Given the description of an element on the screen output the (x, y) to click on. 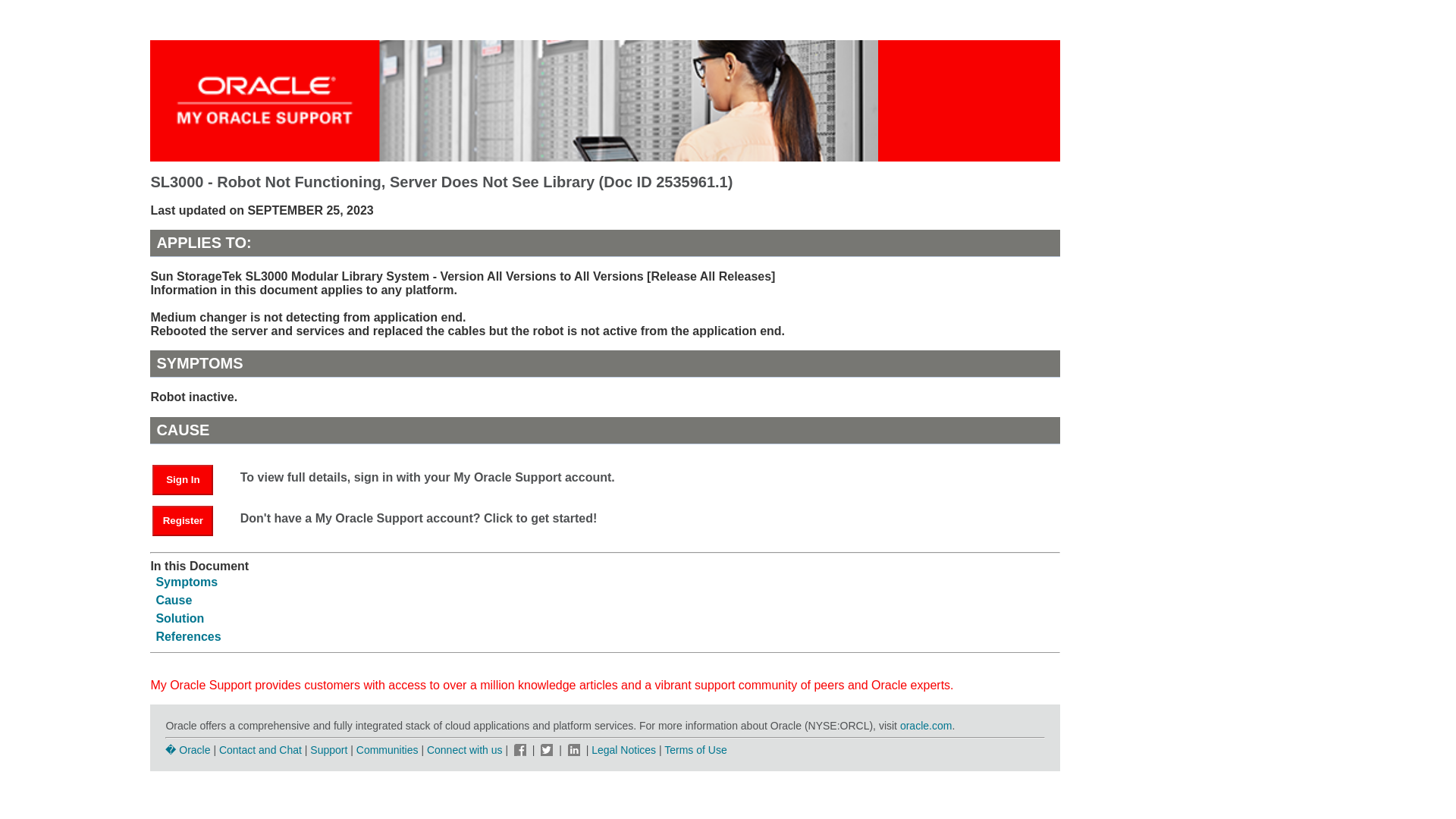
Register (182, 521)
Terms of Use (694, 749)
oracle.com (925, 725)
Contact and Chat (260, 749)
Sign In (190, 478)
Solution (179, 617)
Sign In (182, 480)
Symptoms (185, 581)
Cause (173, 599)
Support (328, 749)
oracle.com (925, 725)
Communities (387, 749)
Connect with us (465, 749)
References (188, 635)
Legal Notices (623, 749)
